Given the description of an element on the screen output the (x, y) to click on. 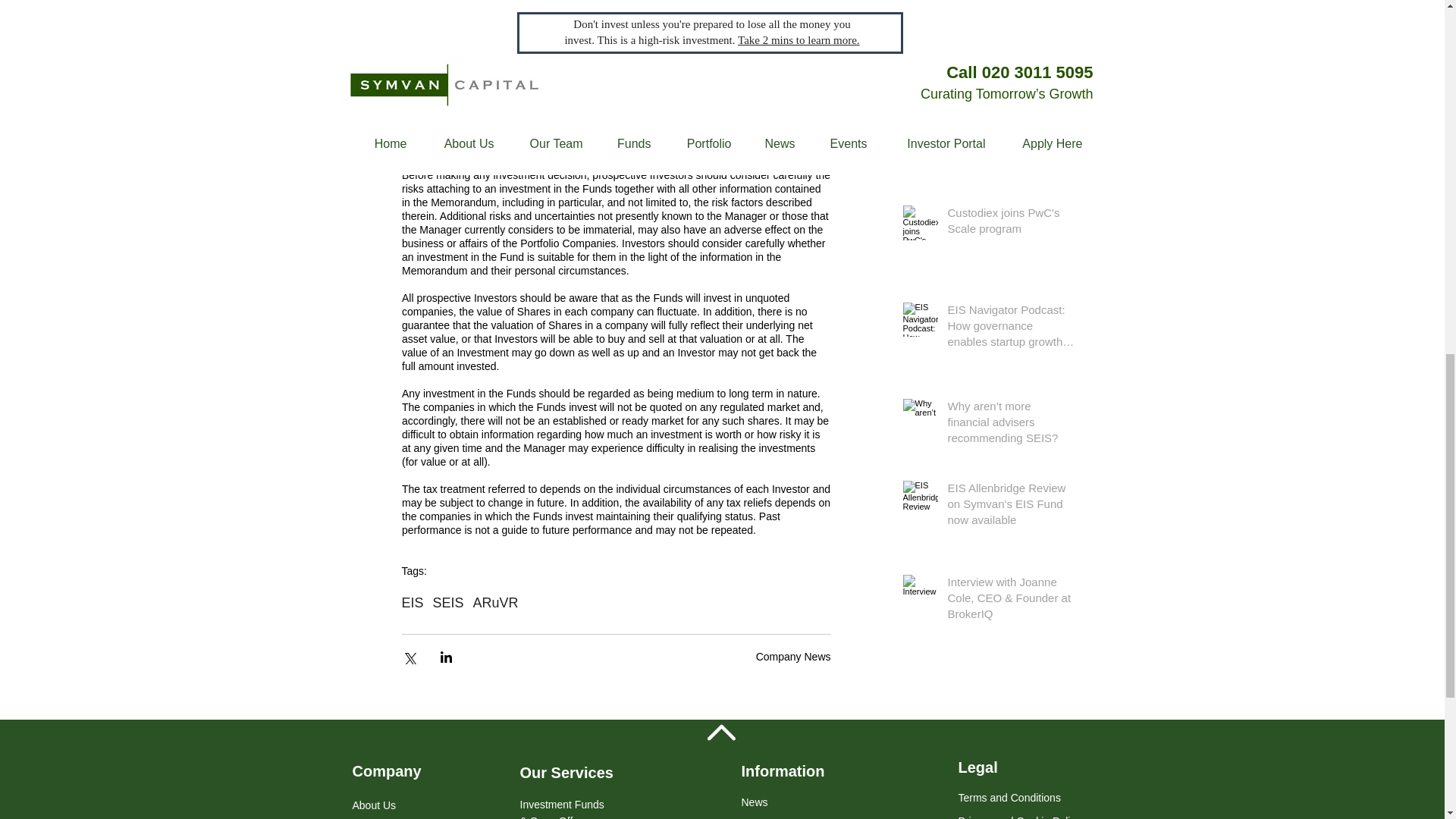
About Us (374, 809)
Our Services (565, 772)
EIS Allenbridge Review on Symvan's EIS Fund now available (1010, 506)
ARuVR (495, 602)
SEIS (448, 602)
Watch on-demand (619, 6)
Custodiex joins PwC's Scale program (1010, 223)
EIS (412, 602)
Company News (793, 656)
